Given the description of an element on the screen output the (x, y) to click on. 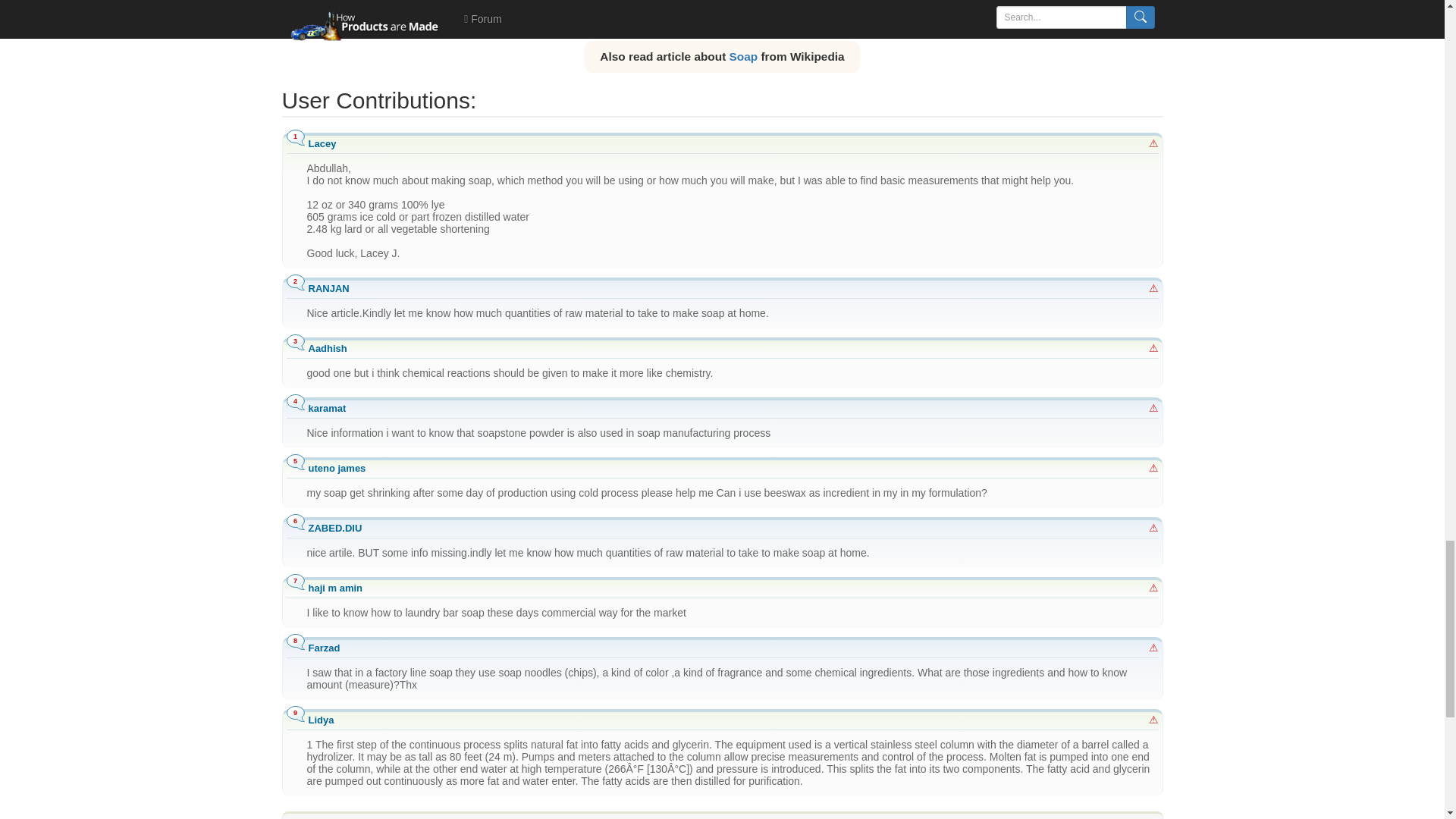
Aadhish (326, 348)
uteno james (336, 468)
Soap (743, 56)
karamat (326, 408)
